Given the description of an element on the screen output the (x, y) to click on. 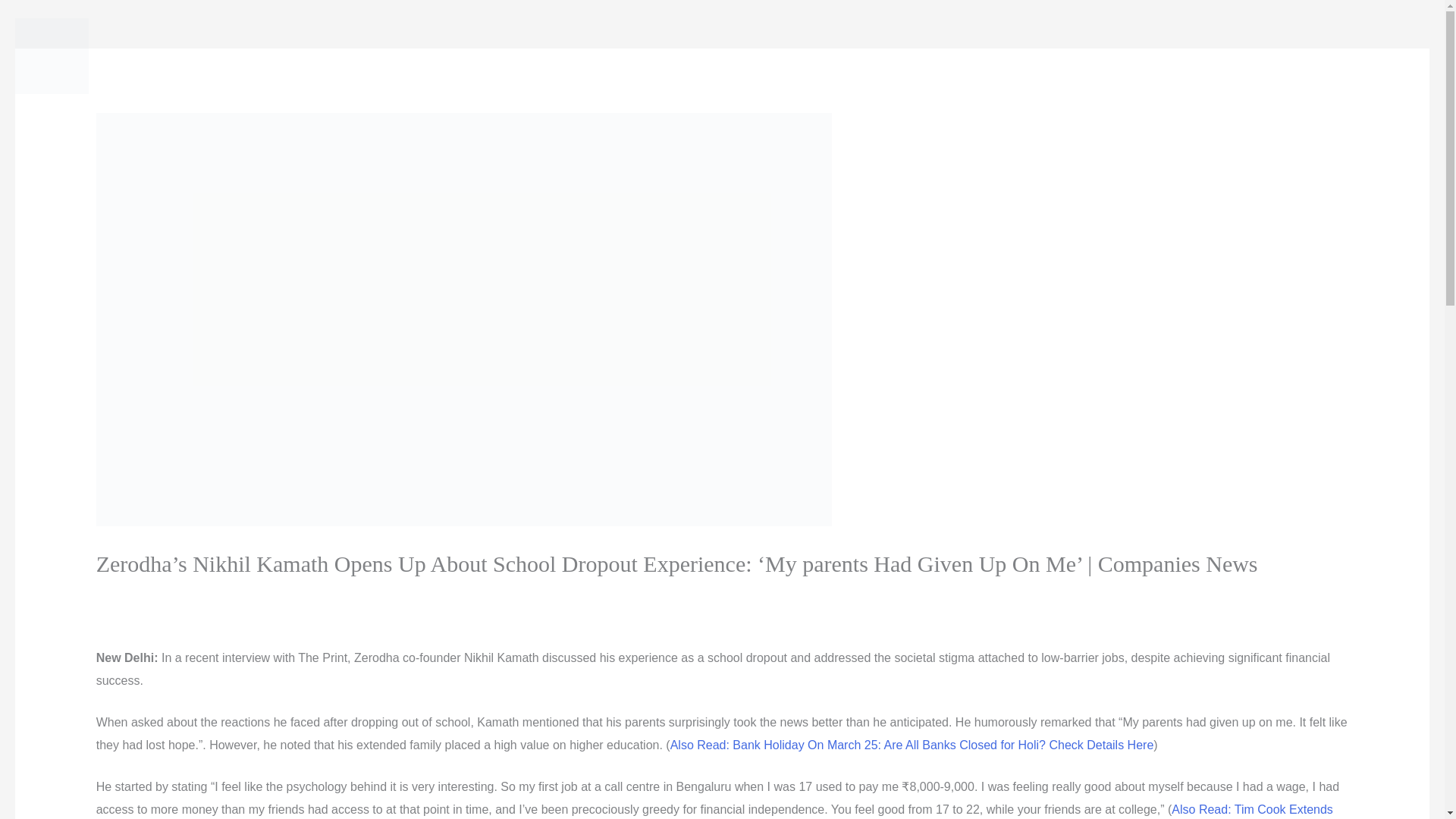
STORIES (554, 56)
news (218, 594)
AWARDS (733, 56)
View all posts by Hellen Faulkar (300, 594)
BIOGRAPHIES (646, 56)
CONTACT US (882, 56)
ABOUT (802, 56)
Leave a Comment (145, 594)
Hellen Faulkar (300, 594)
